Given the description of an element on the screen output the (x, y) to click on. 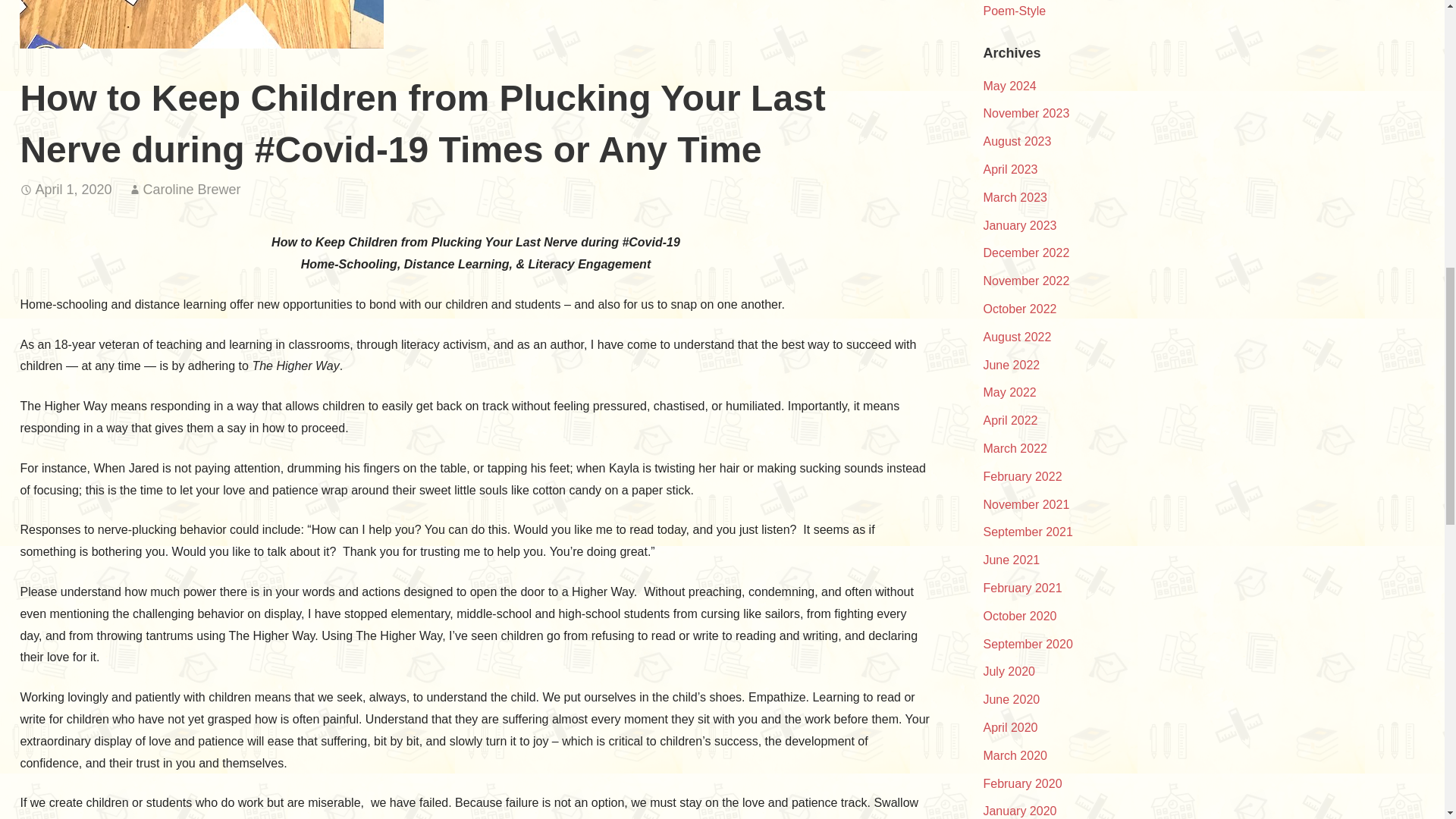
Posts by Caroline Brewer (191, 189)
Caroline Brewer (191, 189)
